Given the description of an element on the screen output the (x, y) to click on. 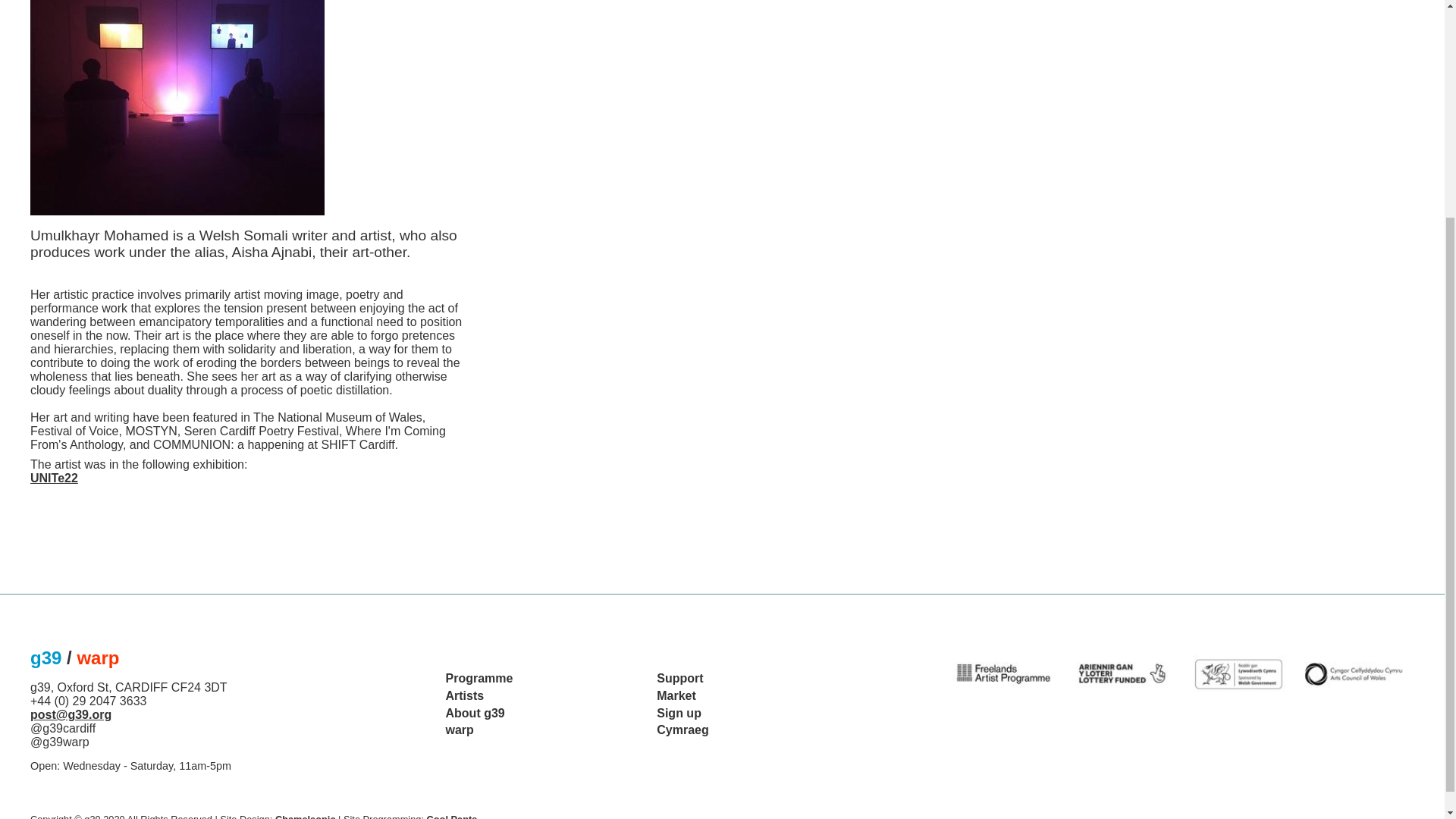
Programme (479, 677)
Support (679, 677)
UNITe22 (54, 477)
Cymraeg (681, 729)
Market (675, 695)
About g39 (475, 712)
warp (459, 729)
Artists (464, 695)
Sign up (678, 712)
